Given the description of an element on the screen output the (x, y) to click on. 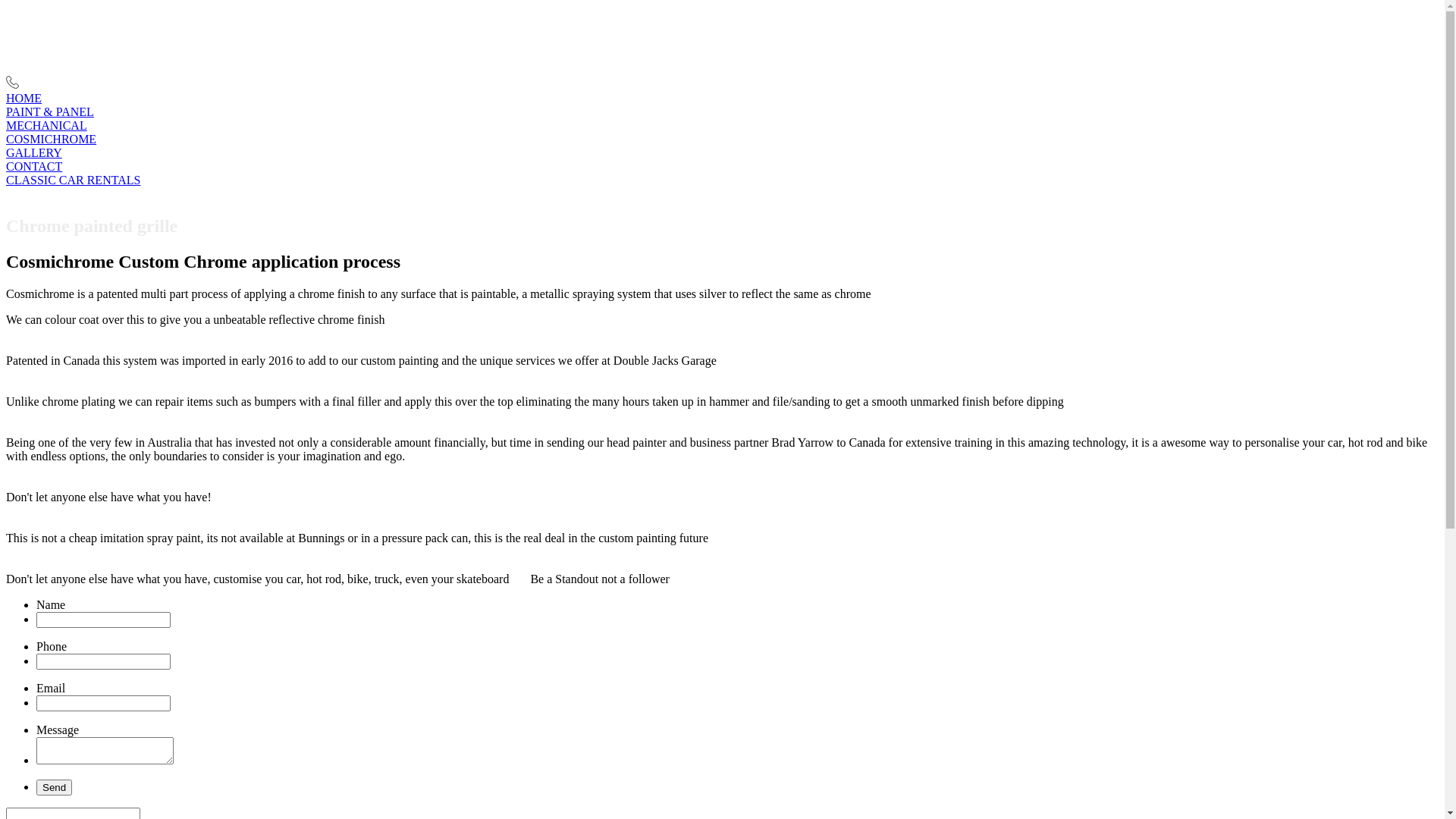
COSMICHROME Element type: text (722, 139)
PAINT & PANEL Element type: text (722, 112)
HOME Element type: text (722, 98)
GALLERY Element type: text (722, 153)
CONTACT Element type: text (722, 166)
MECHANICAL Element type: text (722, 125)
Send Element type: text (54, 787)
Shape Created with Sketch. Element type: text (12, 84)
CLASSIC CAR RENTALS Element type: text (722, 180)
